Given the description of an element on the screen output the (x, y) to click on. 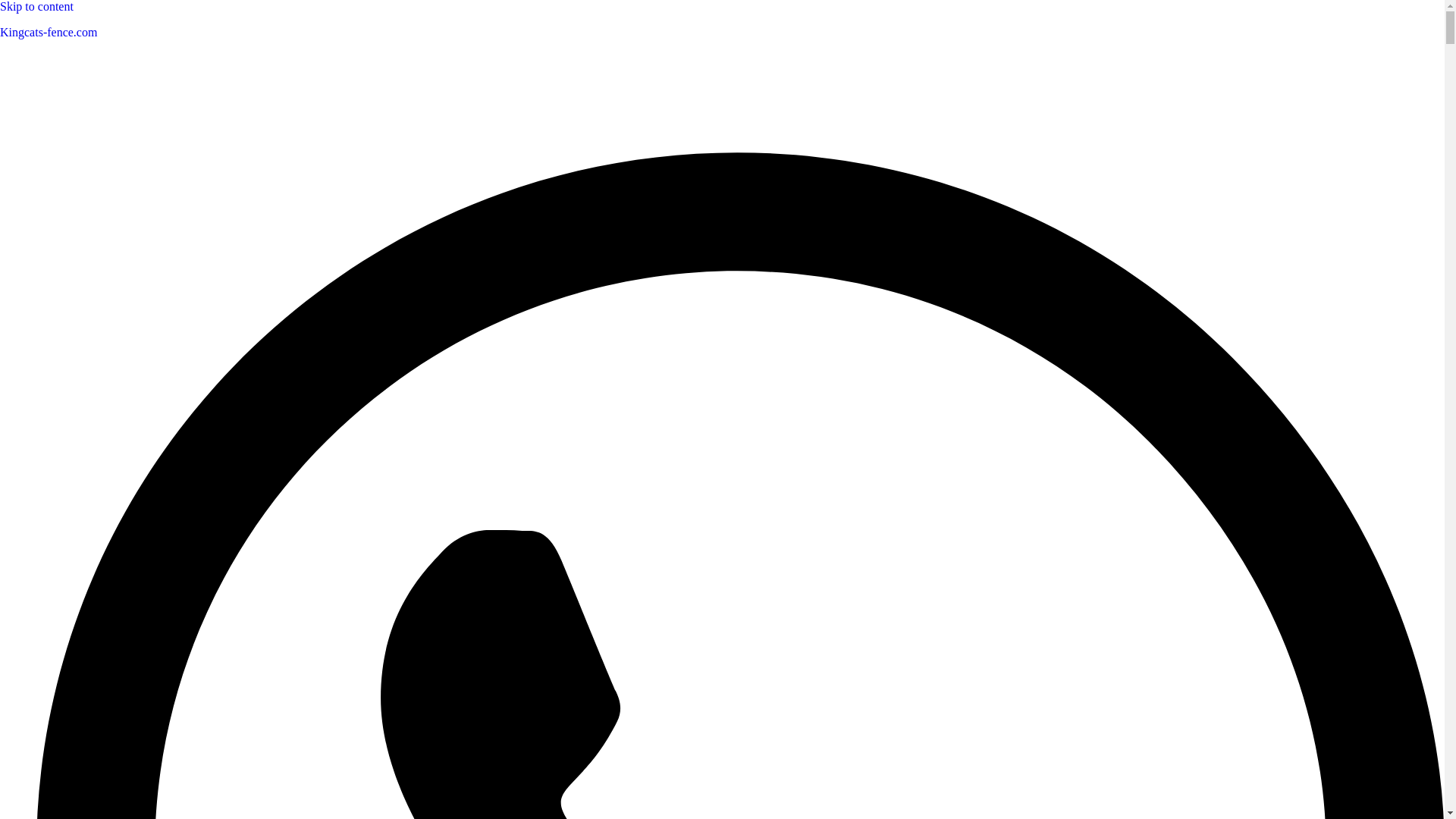
Skip to content (37, 6)
Skip to content (37, 6)
Kingcats-fence.com (48, 31)
Kingcats-fence.com (48, 31)
